Given the description of an element on the screen output the (x, y) to click on. 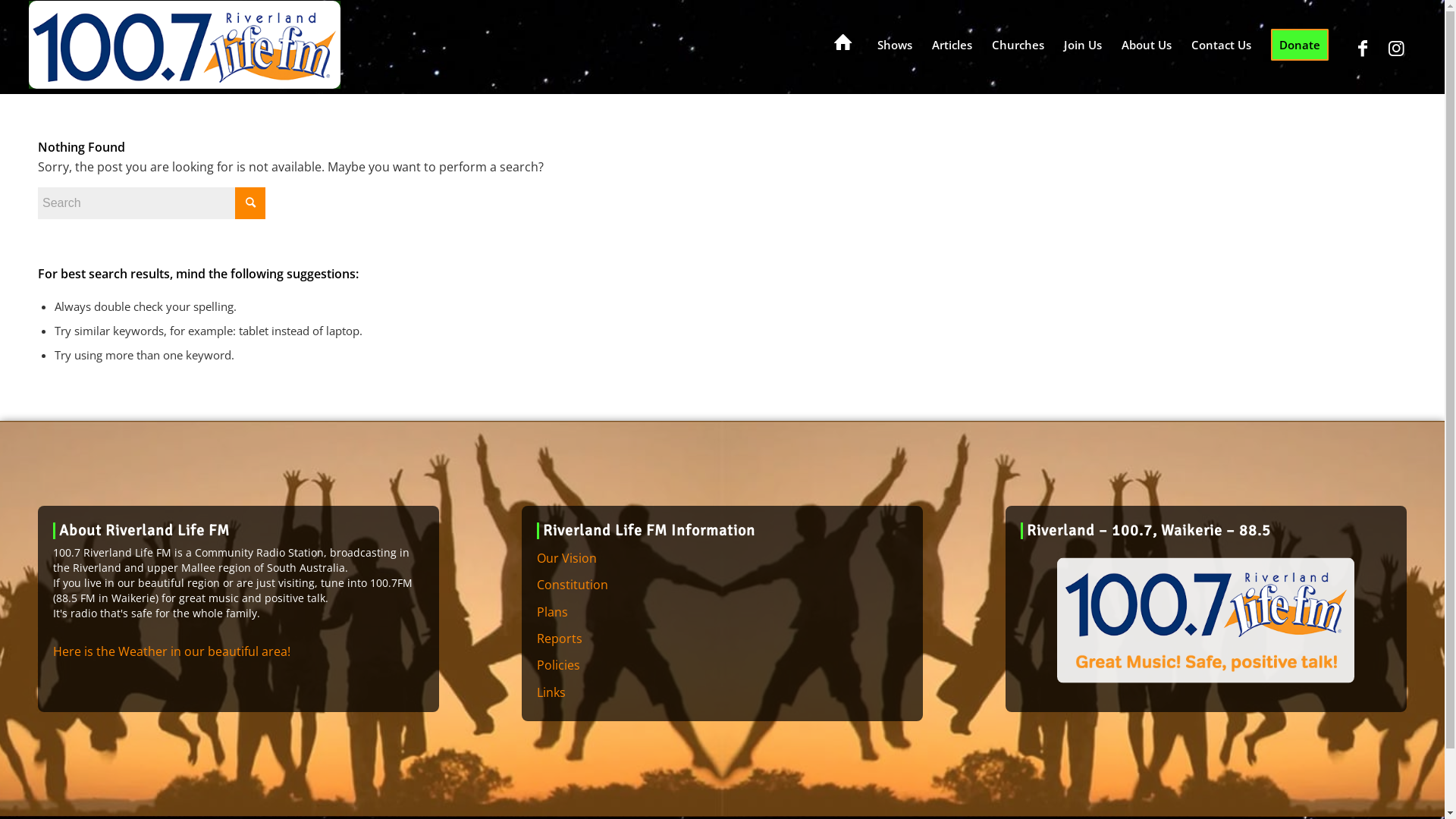
Plans Element type: text (721, 612)
Join Us Element type: text (1082, 44)
Shows Element type: text (894, 44)
Policies Element type: text (721, 665)
Links Element type: text (721, 692)
Facebook Element type: hover (1362, 47)
Reports Element type: text (721, 638)
Instagram Element type: hover (1396, 47)
Donate Element type: text (1299, 44)
Constitution Element type: text (721, 584)
Articles Element type: text (952, 44)
Contact Us Element type: text (1221, 44)
Here is the Weather in our beautiful area! Element type: text (171, 651)
Our Vision Element type: text (721, 558)
About Us Element type: text (1146, 44)
Churches Element type: text (1018, 44)
